Given the description of an element on the screen output the (x, y) to click on. 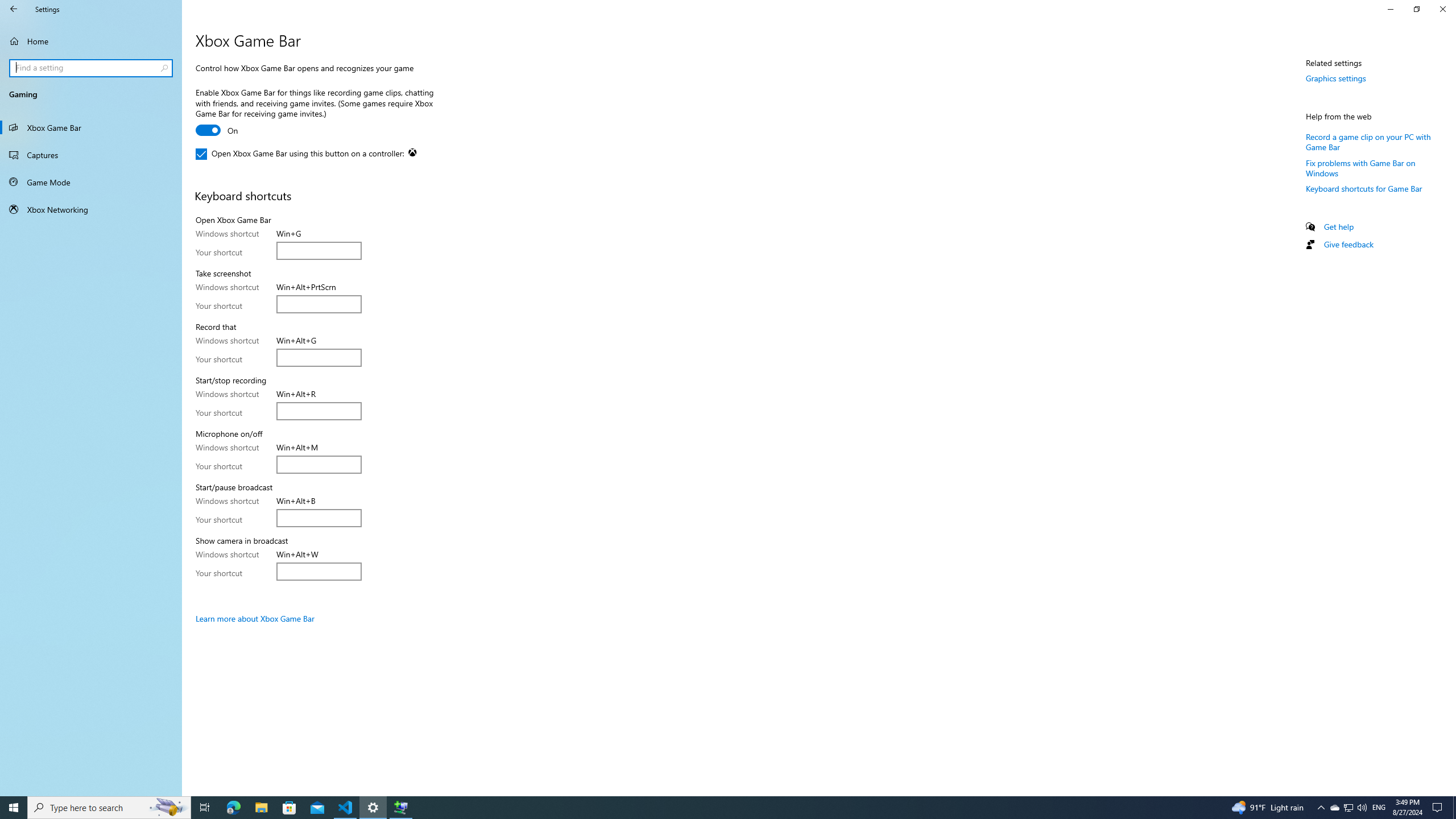
Fix problems with Game Bar on Windows (1360, 167)
Graphics settings (1335, 77)
Learn more about Xbox Game Bar (254, 618)
Restore Settings (1416, 9)
Minimize Settings (1390, 9)
Running applications (706, 807)
Give feedback (1348, 244)
